Given the description of an element on the screen output the (x, y) to click on. 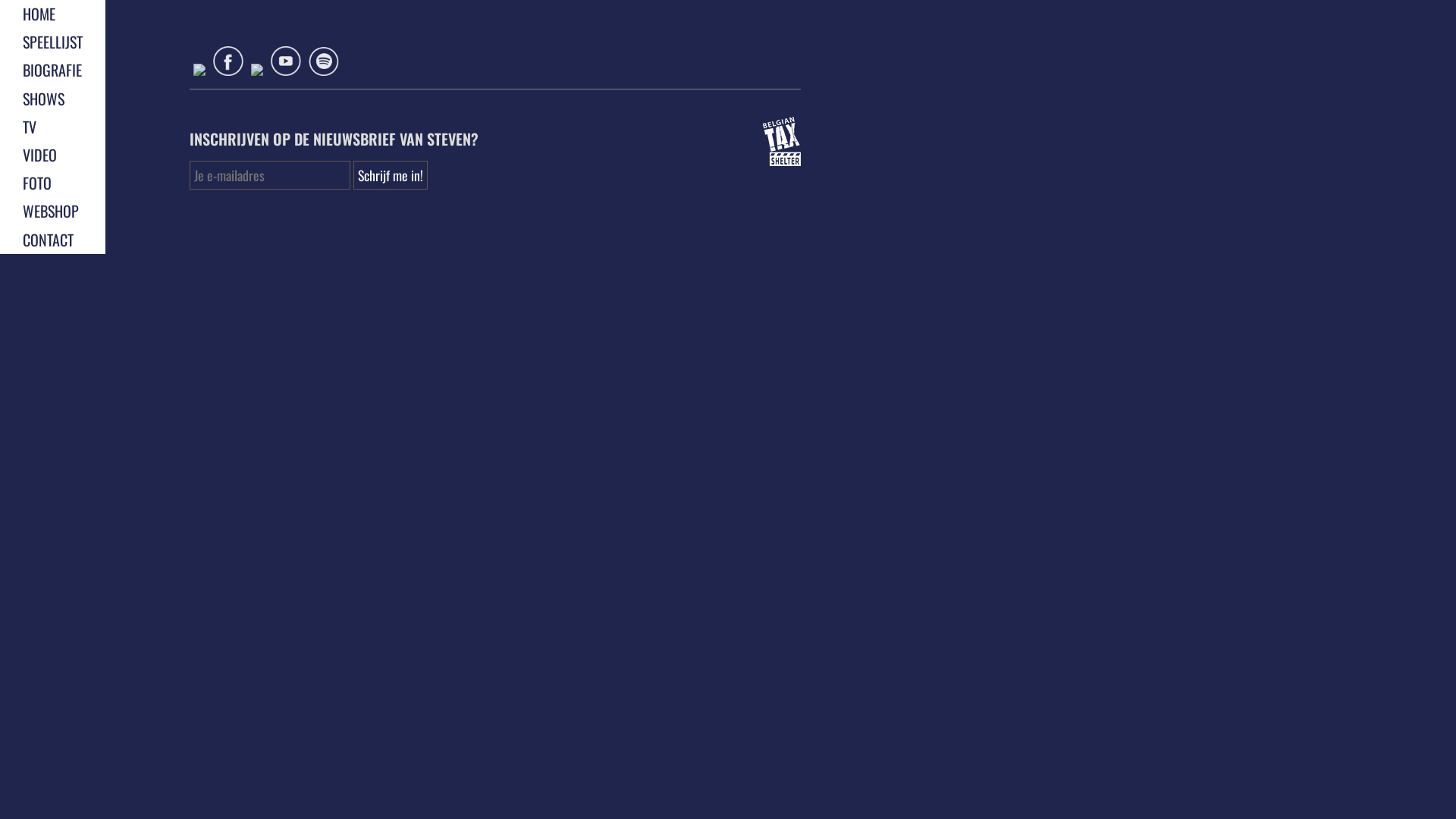
FOTO Element type: text (36, 182)
SHOWS Element type: text (43, 98)
BIOGRAFIE Element type: text (51, 69)
Schrijf me in! Element type: text (390, 174)
HOME Element type: text (38, 13)
WEBSHOP Element type: text (50, 210)
CONTACT Element type: text (47, 238)
TV Element type: text (29, 126)
VIDEO Element type: text (39, 154)
SPEELLIJST Element type: text (52, 41)
